Given the description of an element on the screen output the (x, y) to click on. 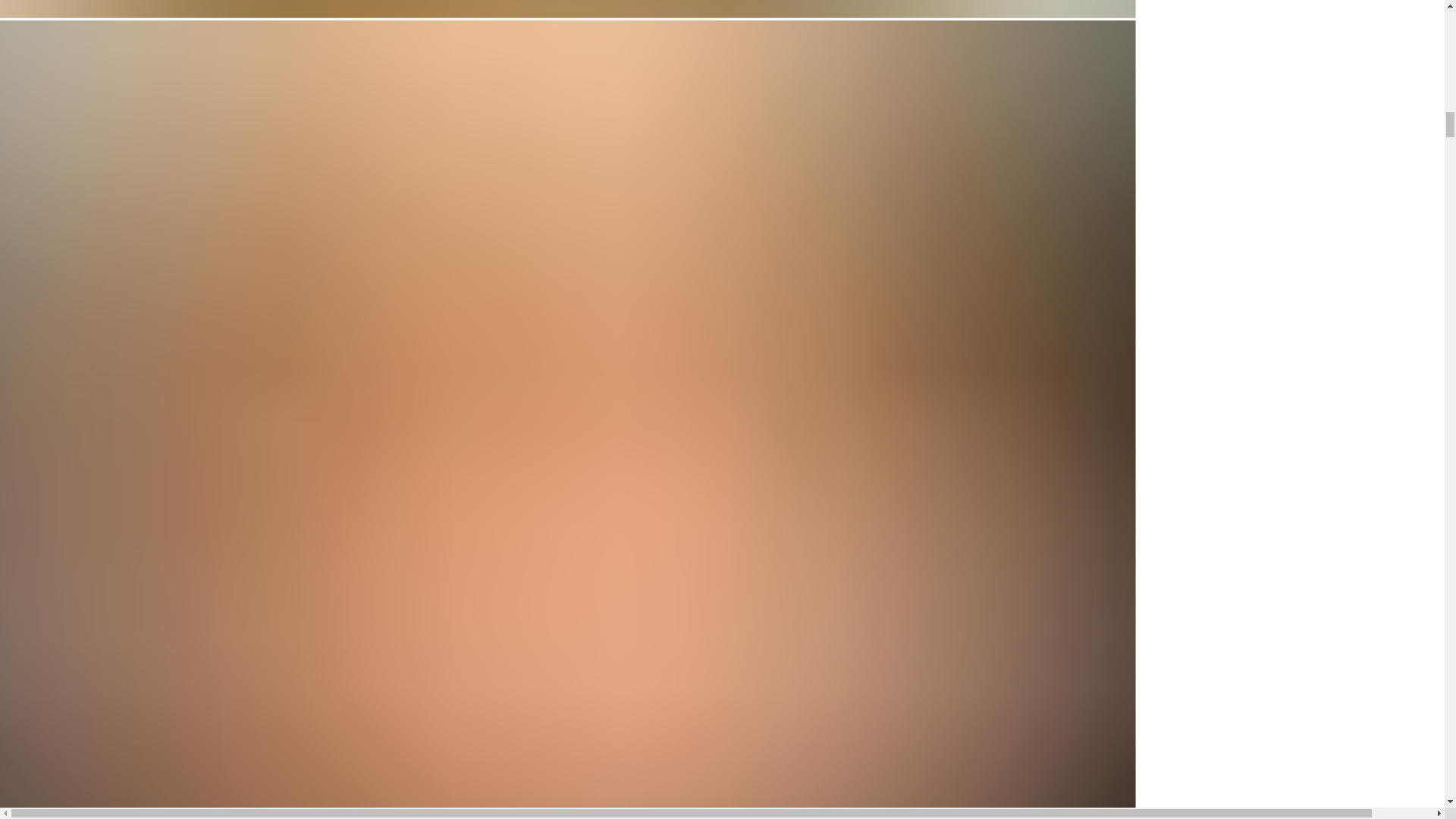
shop gifts for her (46, 56)
